Given the description of an element on the screen output the (x, y) to click on. 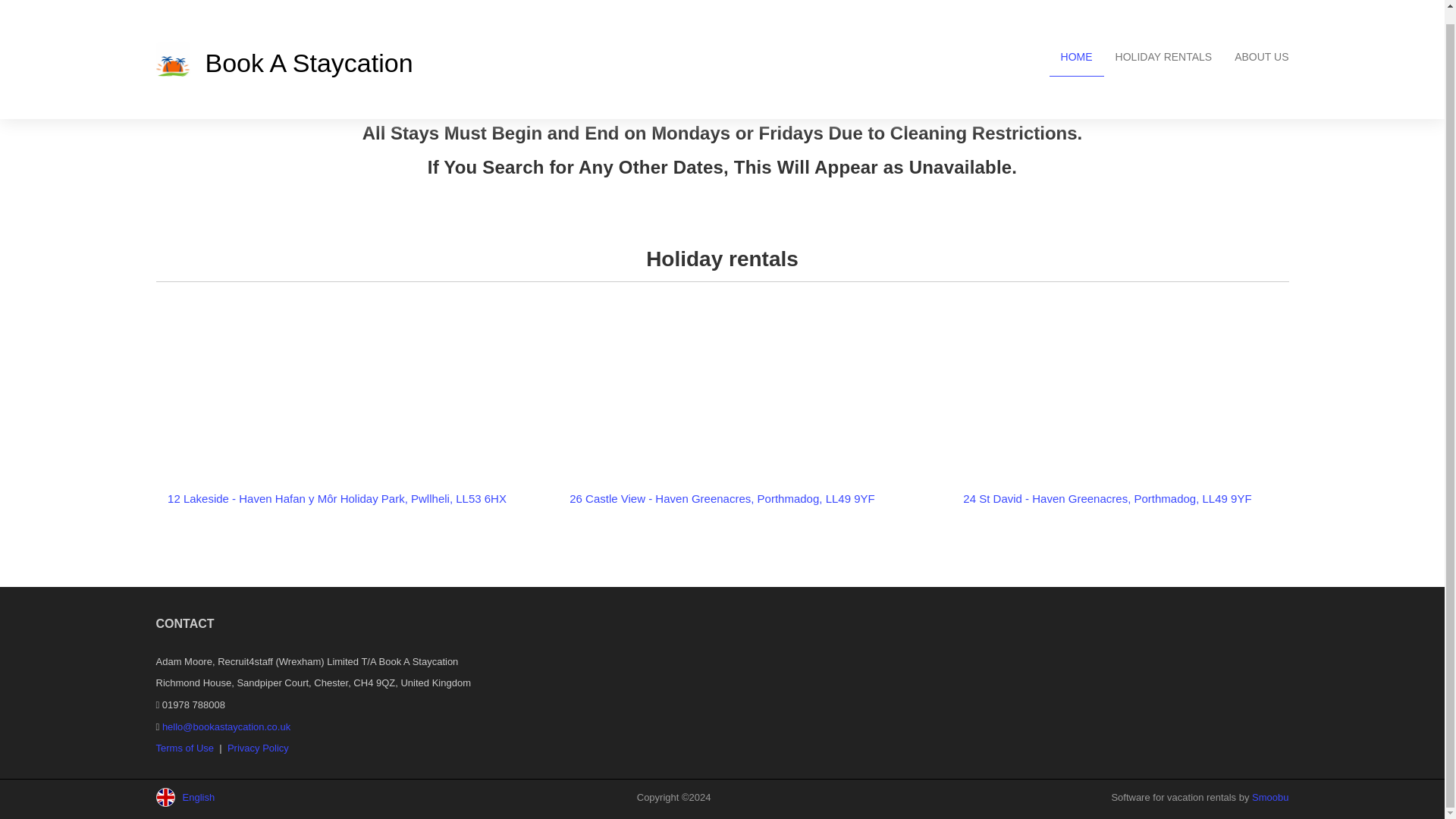
ABOUT US (1261, 43)
English (216, 797)
Privacy Policy (257, 747)
26 Castle View - Haven Greenacres, Porthmadog, LL49 9YF (722, 498)
Check availability (751, 210)
Smoobu (1270, 797)
Book A Staycation (433, 45)
Terms of Use (184, 747)
24 St David - Haven Greenacres, Porthmadog, LL49 9YF (1106, 498)
HOME (1076, 43)
